Given the description of an element on the screen output the (x, y) to click on. 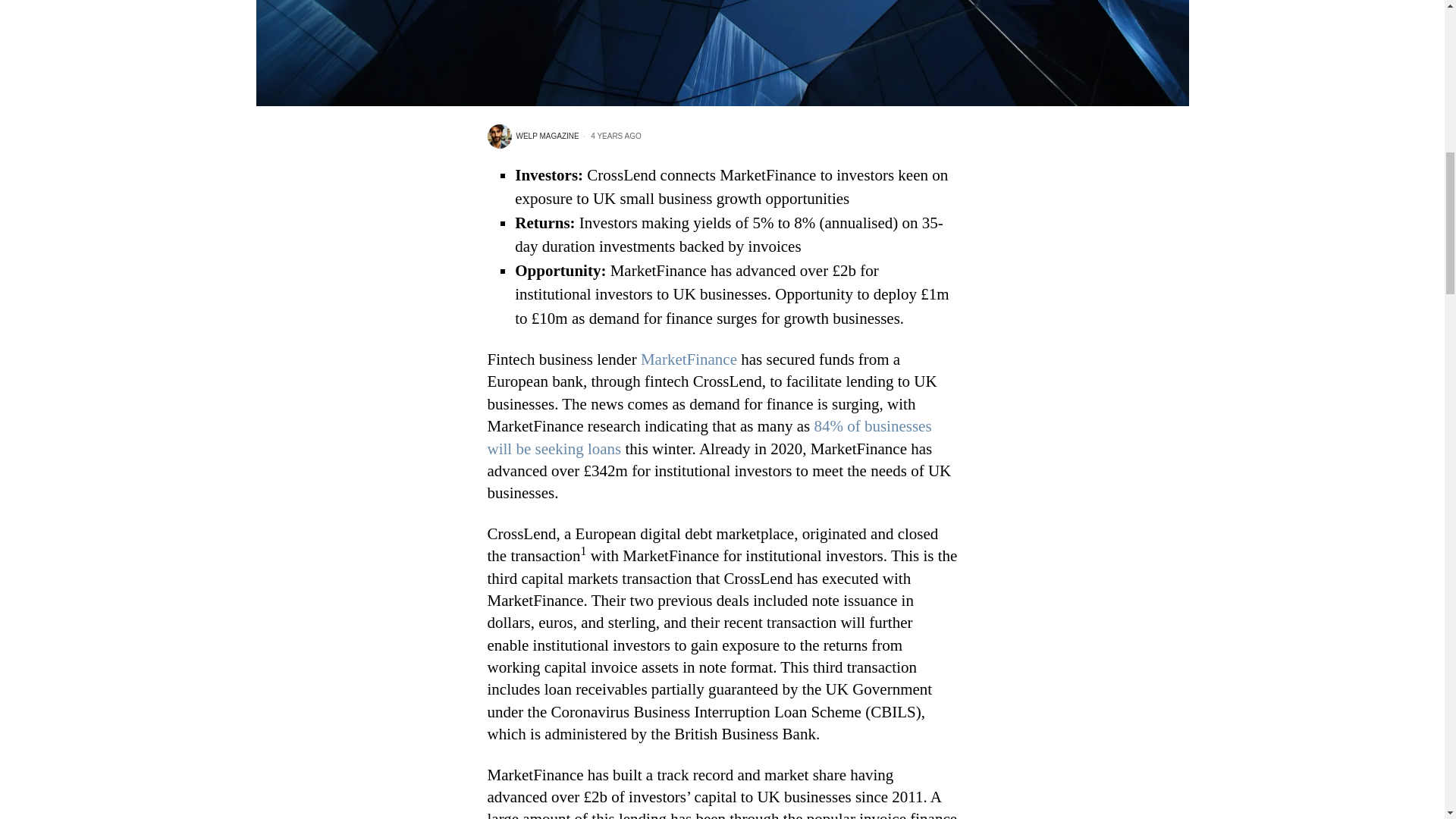
10 Dec, 2020 12:30:56 (610, 136)
 MarketFinance (686, 359)
WELP MAGAZINE (532, 136)
